Given the description of an element on the screen output the (x, y) to click on. 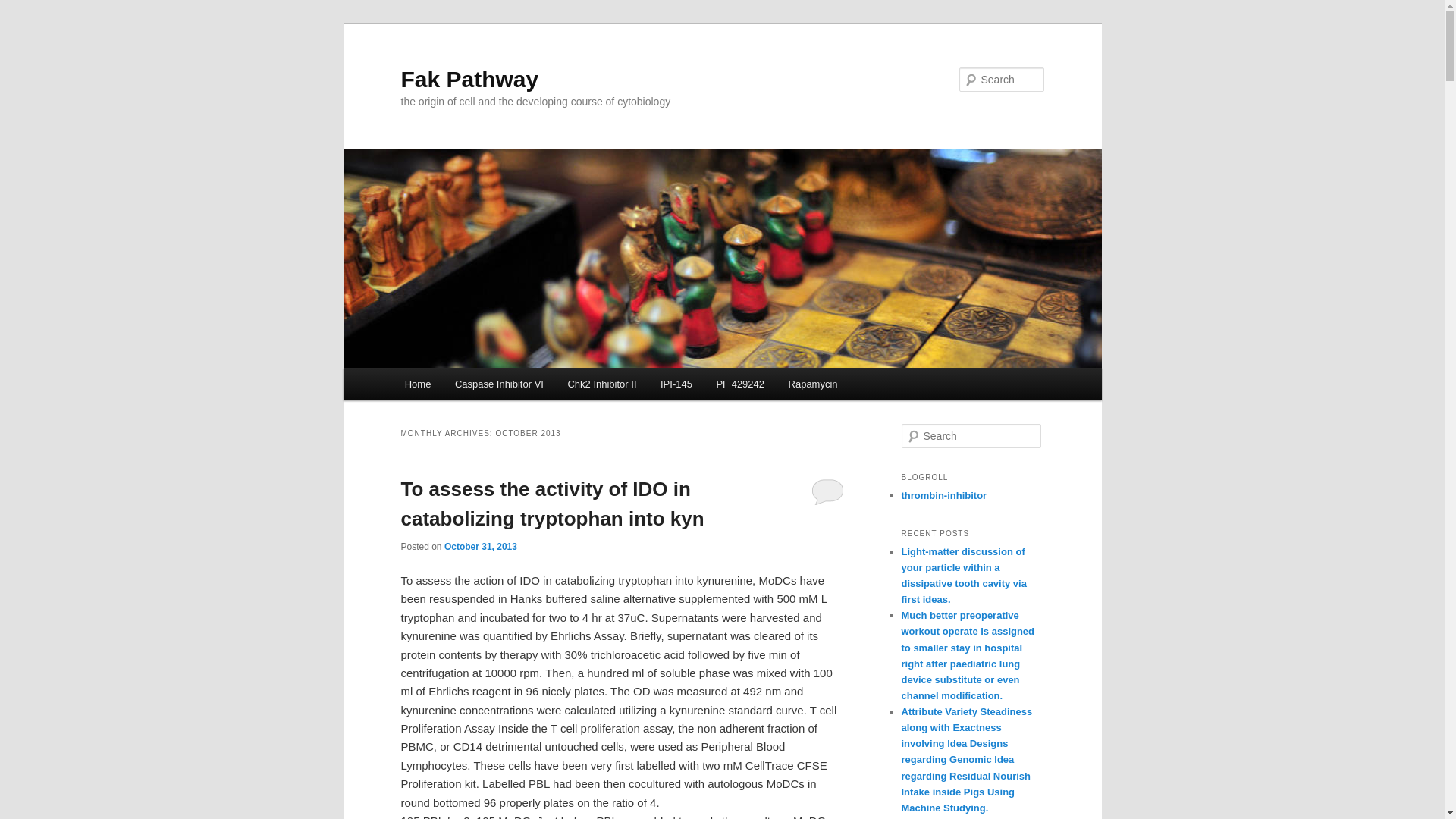
Chk2 Inhibitor II (602, 383)
Fak Pathway (469, 78)
Caspase Inhibitor VI (499, 383)
Skip to secondary content (479, 386)
Home (417, 383)
Fak Pathway (469, 78)
Skip to primary content (472, 386)
October 31, 2013 (480, 546)
